Given the description of an element on the screen output the (x, y) to click on. 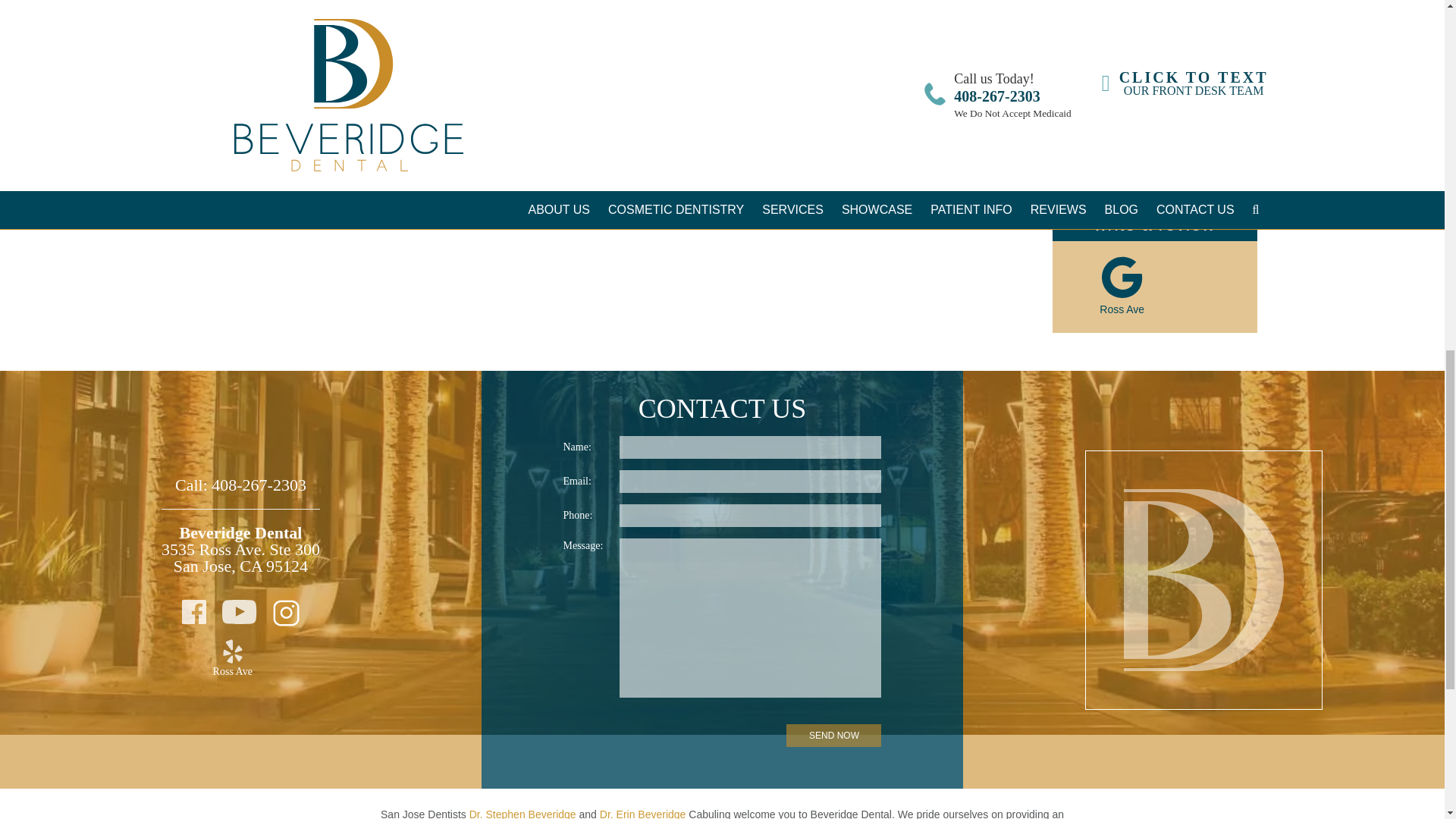
Send Now (833, 734)
Send Now (1194, 6)
